Given the description of an element on the screen output the (x, y) to click on. 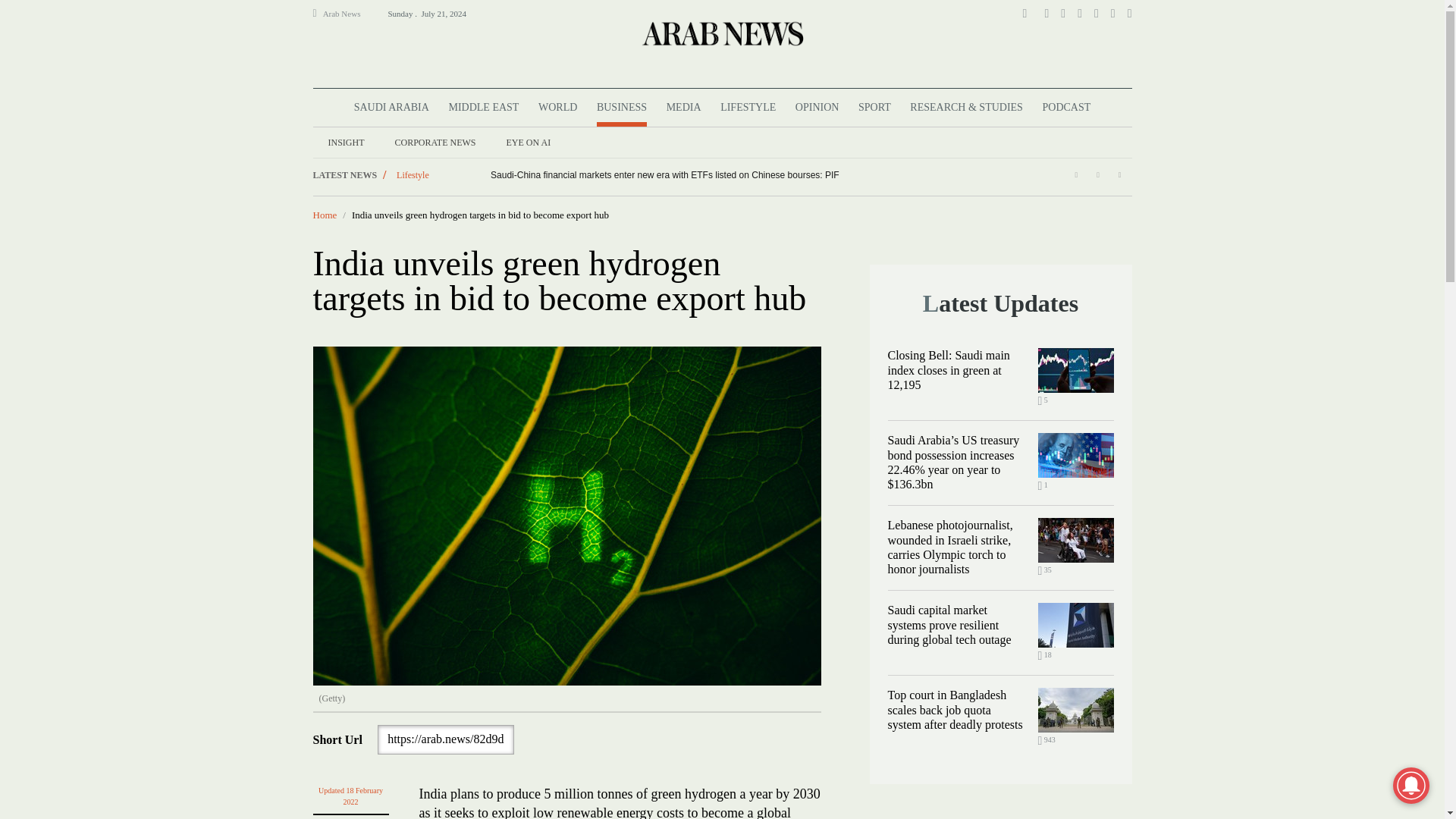
Arabnews (721, 33)
Arab News (348, 13)
